Given the description of an element on the screen output the (x, y) to click on. 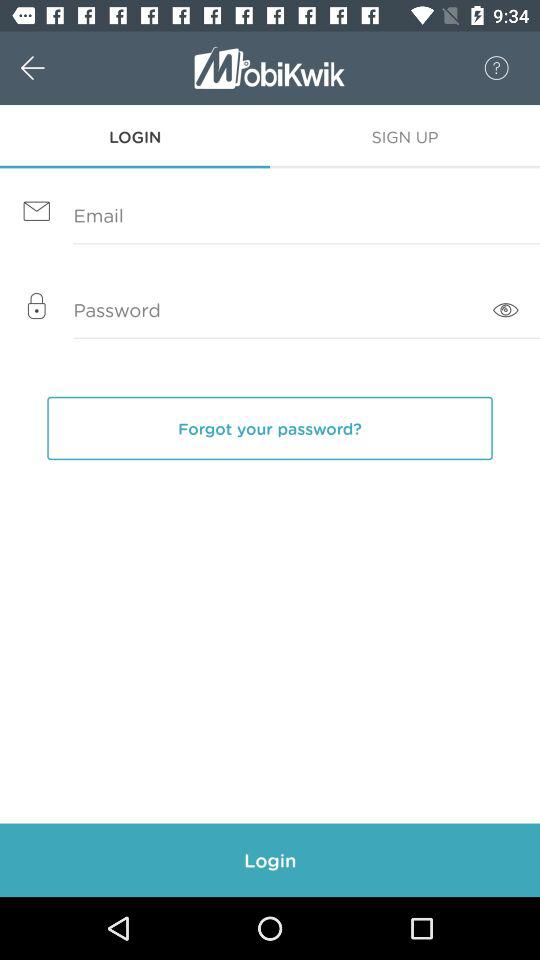
choose sign up item (405, 136)
